Given the description of an element on the screen output the (x, y) to click on. 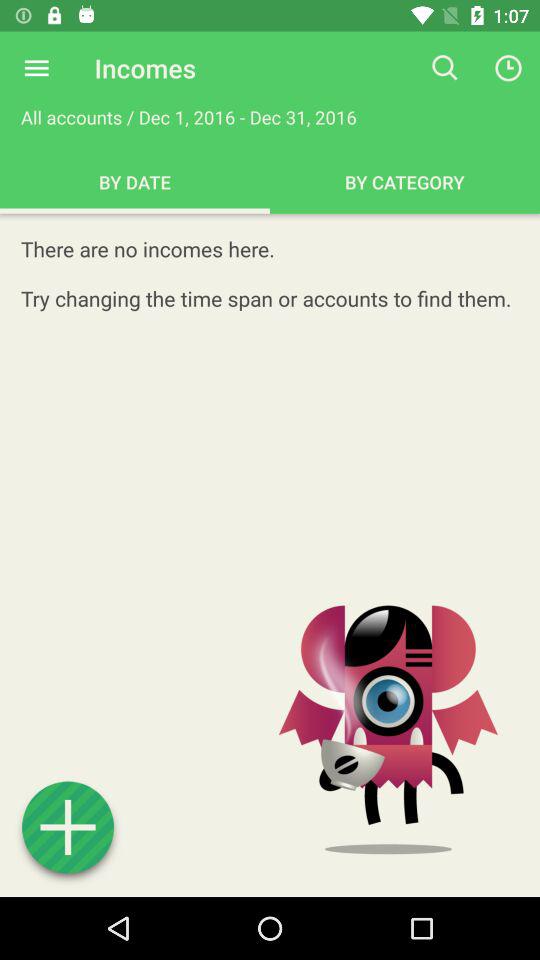
click the app above the all accounts dec (36, 68)
